Given the description of an element on the screen output the (x, y) to click on. 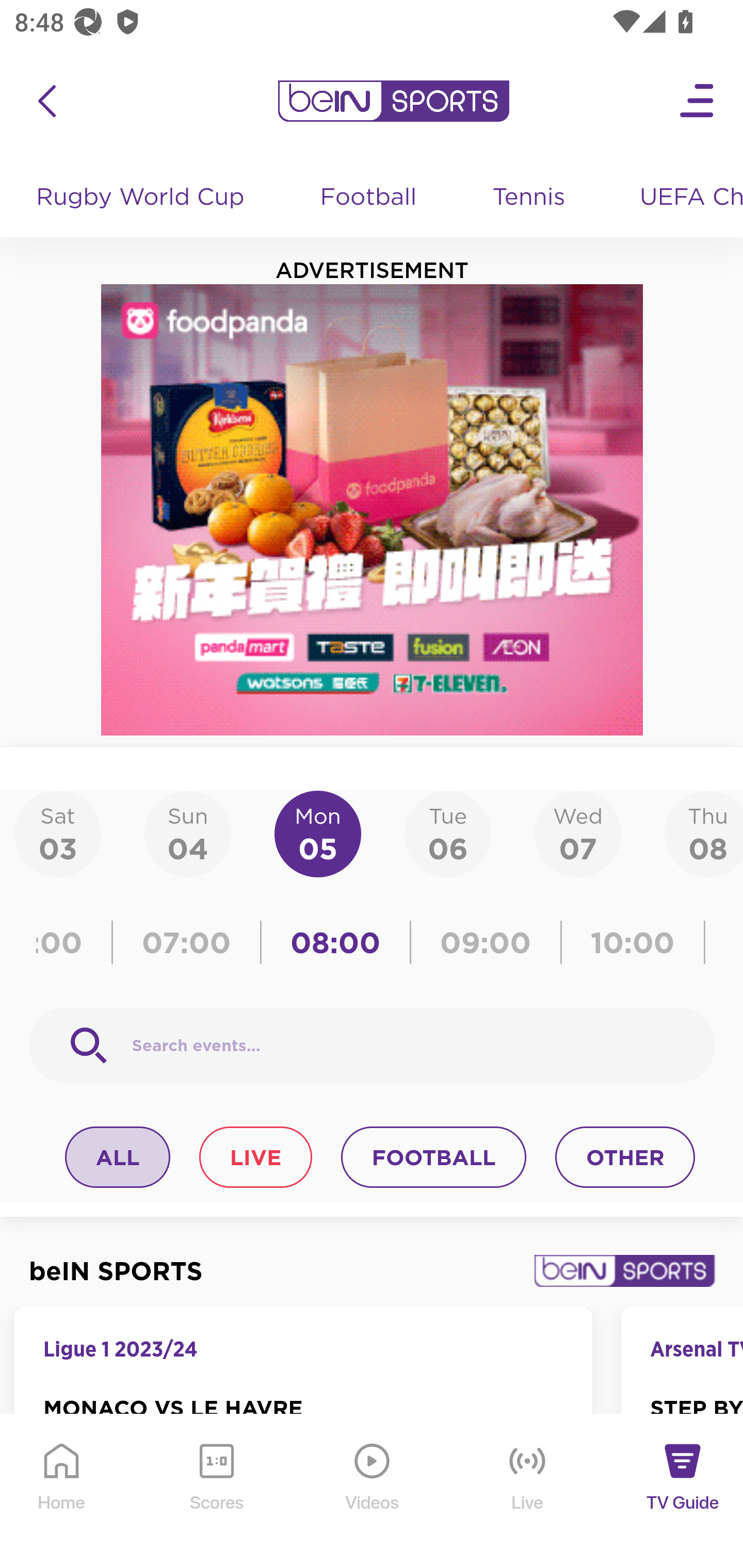
en-my?platform=mobile_android bein logo (392, 101)
icon back (46, 101)
Open Menu Icon (697, 101)
Rugby World Cup (142, 198)
Football (369, 198)
Tennis (530, 198)
UEFA Champions League (683, 198)
Advertisement (372, 509)
Sat03 (58, 834)
Sun04 (187, 834)
Mon05 (318, 834)
Tue06 (447, 834)
Wed07 (578, 834)
Thu08 (703, 834)
06:00 (74, 942)
07:00 (186, 942)
08:00 (335, 942)
09:00 (486, 942)
10:00 (632, 942)
ALL (118, 1157)
LIVE (255, 1157)
FOOTBALL (433, 1157)
OTHER (625, 1157)
Home Home Icon Home (61, 1491)
Scores Scores Icon Scores (216, 1491)
Videos Videos Icon Videos (372, 1491)
TV Guide TV Guide Icon TV Guide (682, 1491)
